Given the description of an element on the screen output the (x, y) to click on. 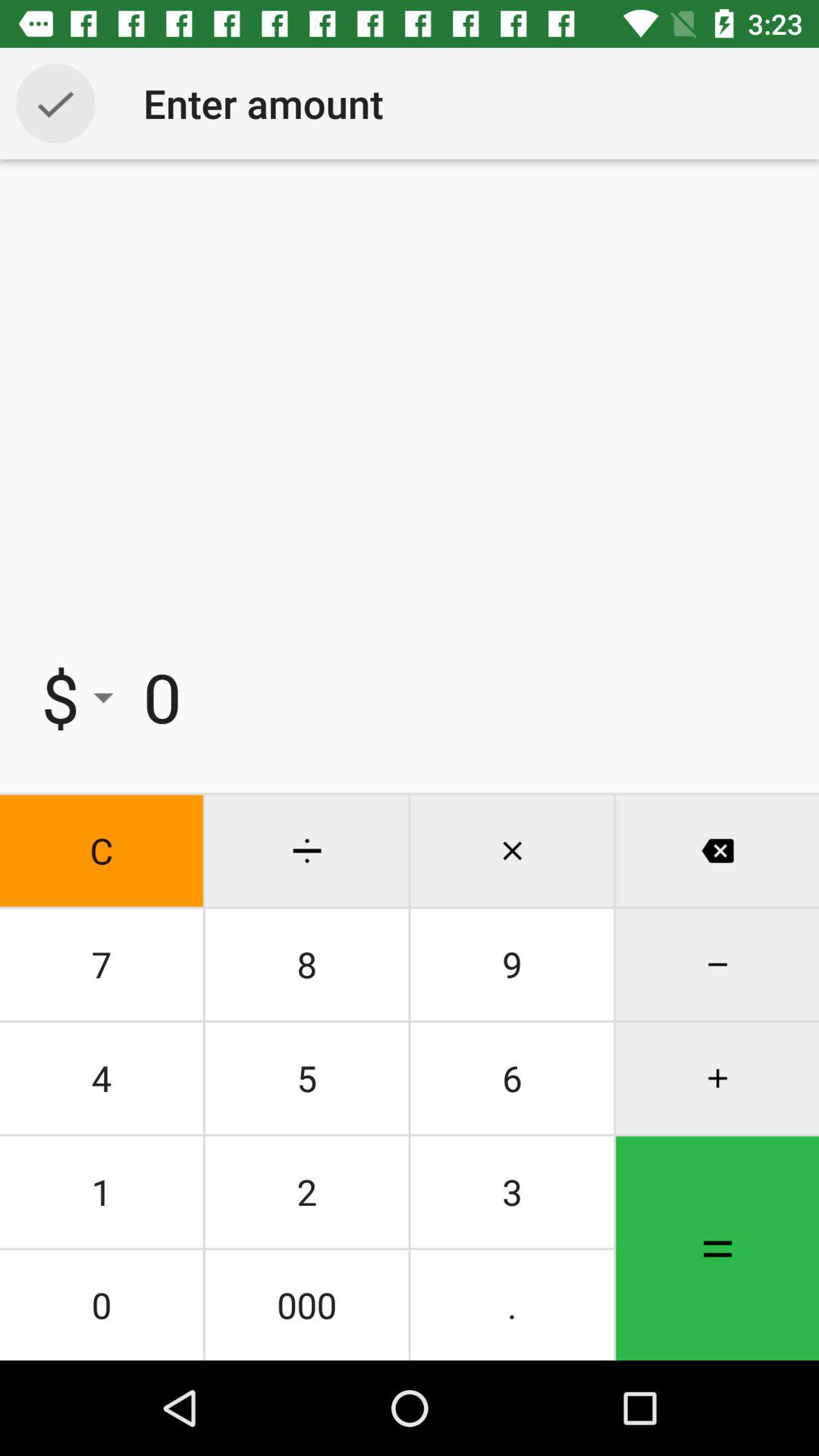
tap item next to the 9 icon (306, 1078)
